Given the description of an element on the screen output the (x, y) to click on. 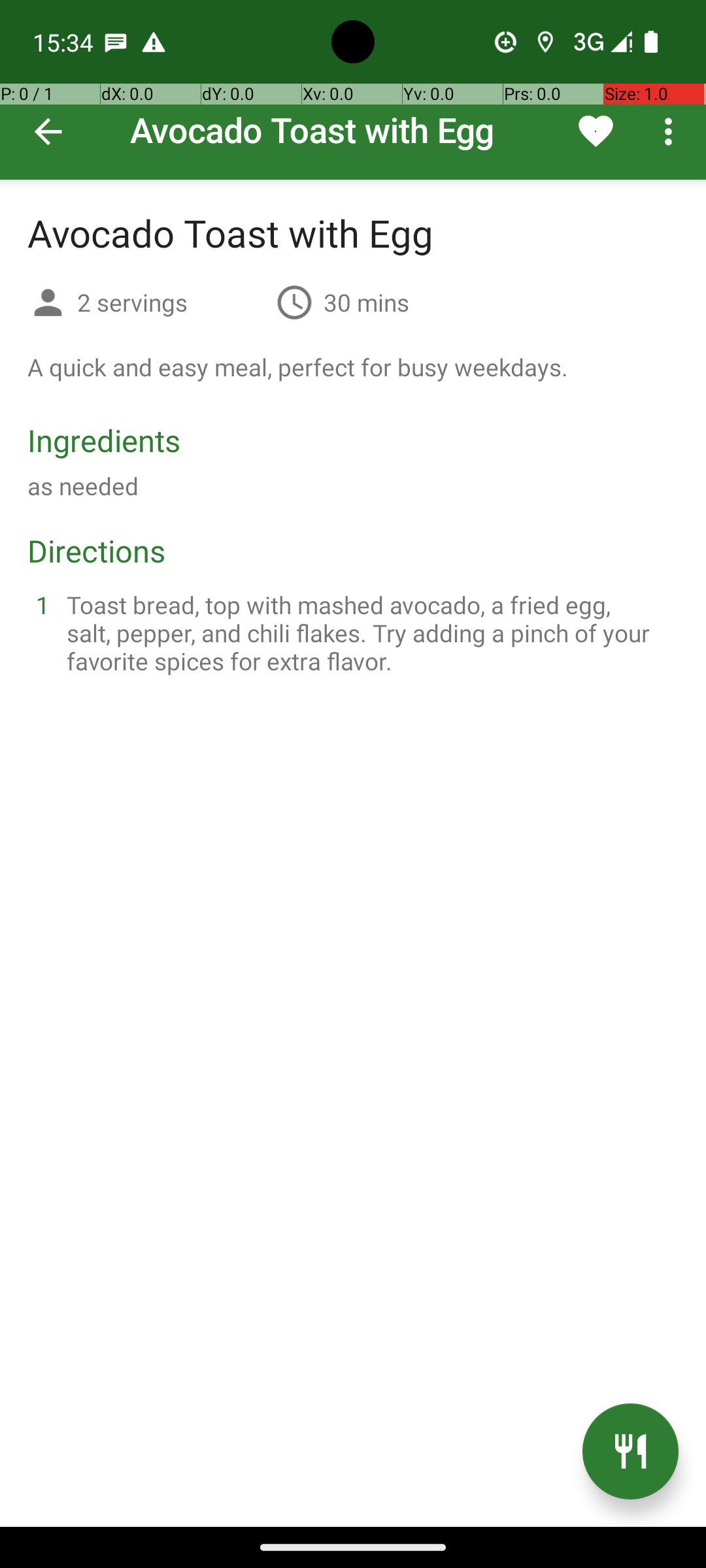
Toast bread, top with mashed avocado, a fried egg, salt, pepper, and chili flakes. Try adding a pinch of your favorite spices for extra flavor. Element type: android.widget.TextView (368, 632)
